Given the description of an element on the screen output the (x, y) to click on. 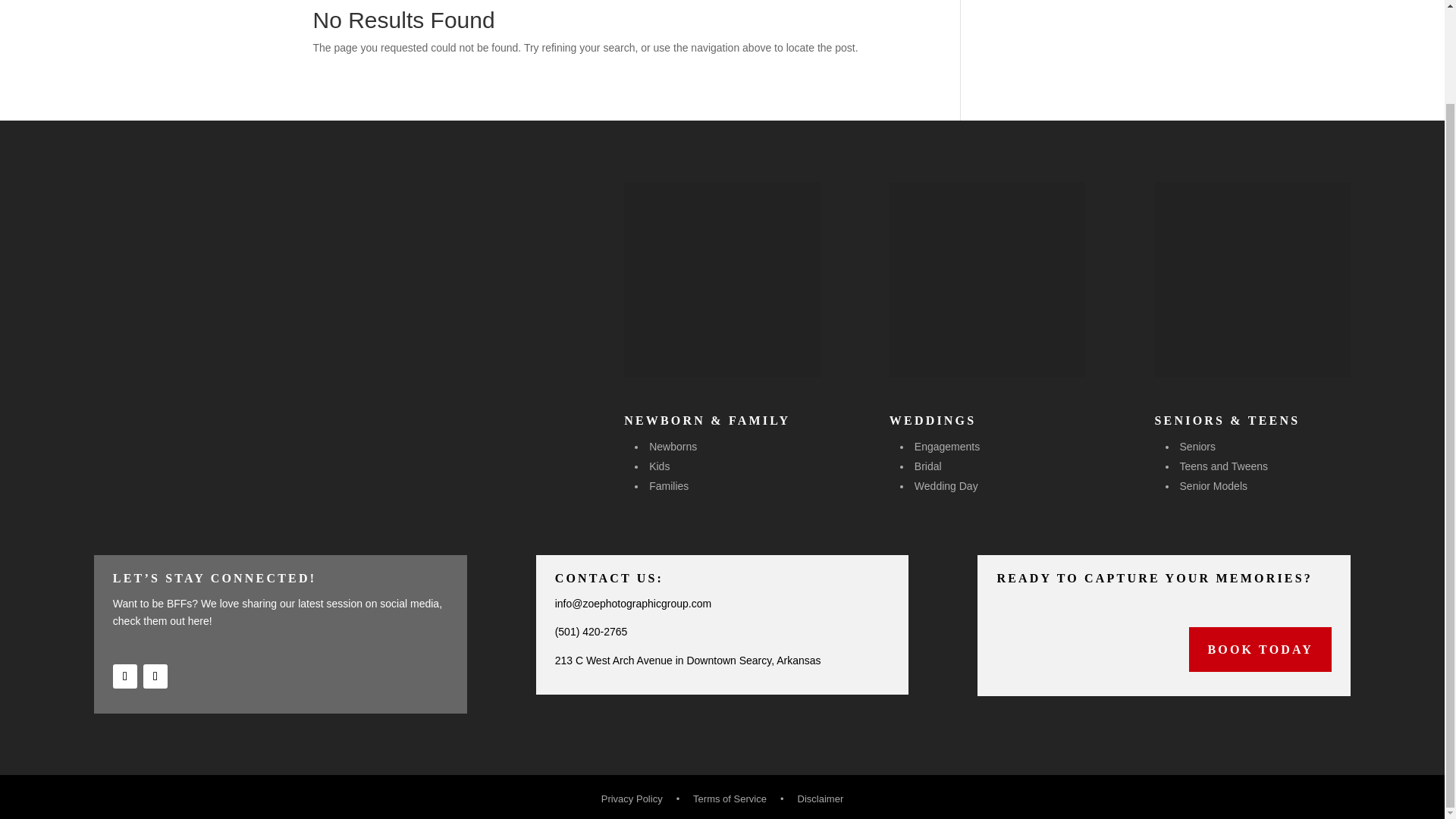
Disclaimer (820, 798)
Privacy Policy  (633, 798)
Follow on Instagram (154, 676)
Terms of Service (730, 798)
Follow on Facebook (124, 676)
BOOK TODAY (1260, 649)
